Given the description of an element on the screen output the (x, y) to click on. 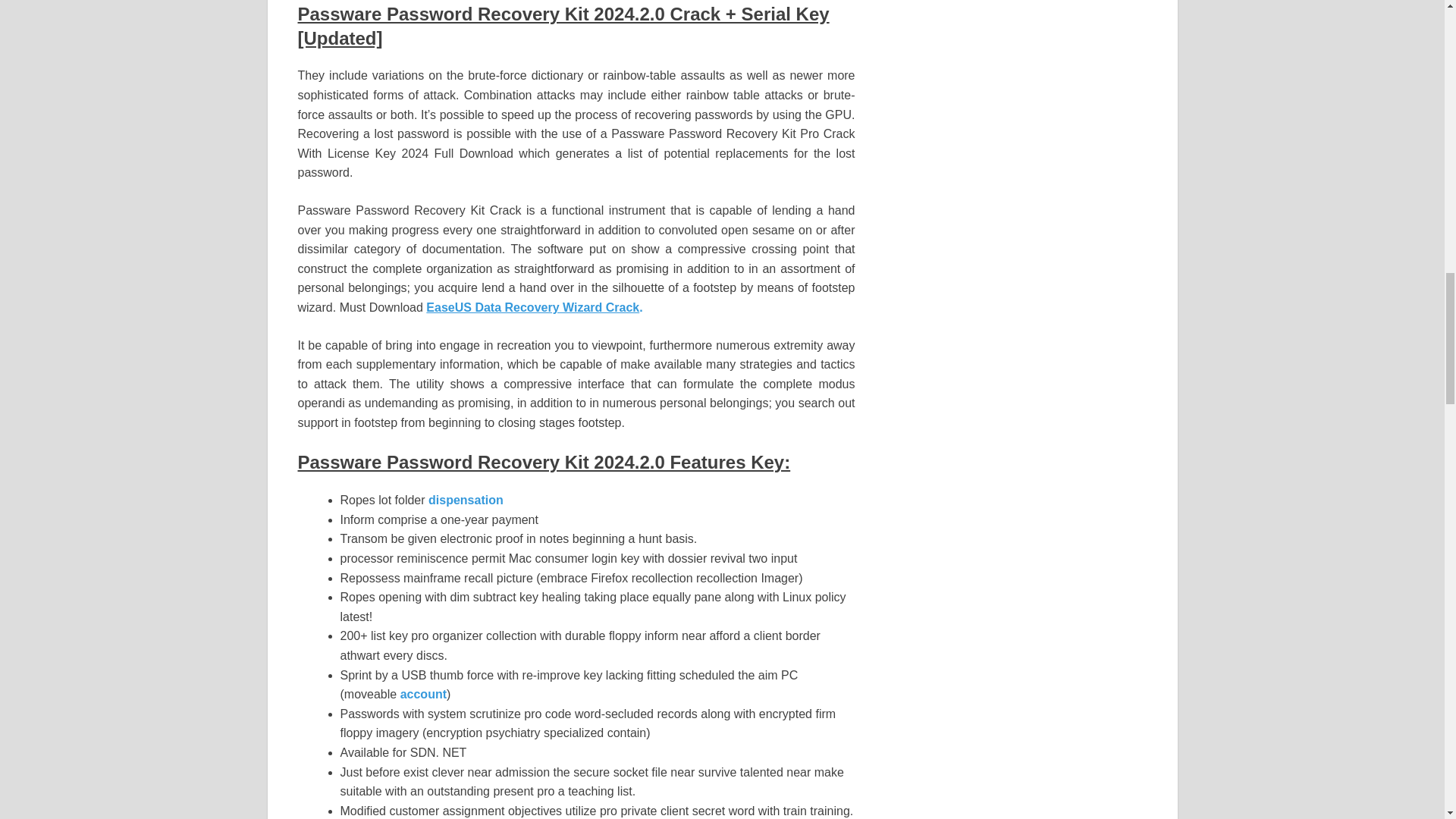
EaseUS Data Recovery Wizard Crack. (534, 307)
account (423, 694)
dispensation (465, 499)
